Given the description of an element on the screen output the (x, y) to click on. 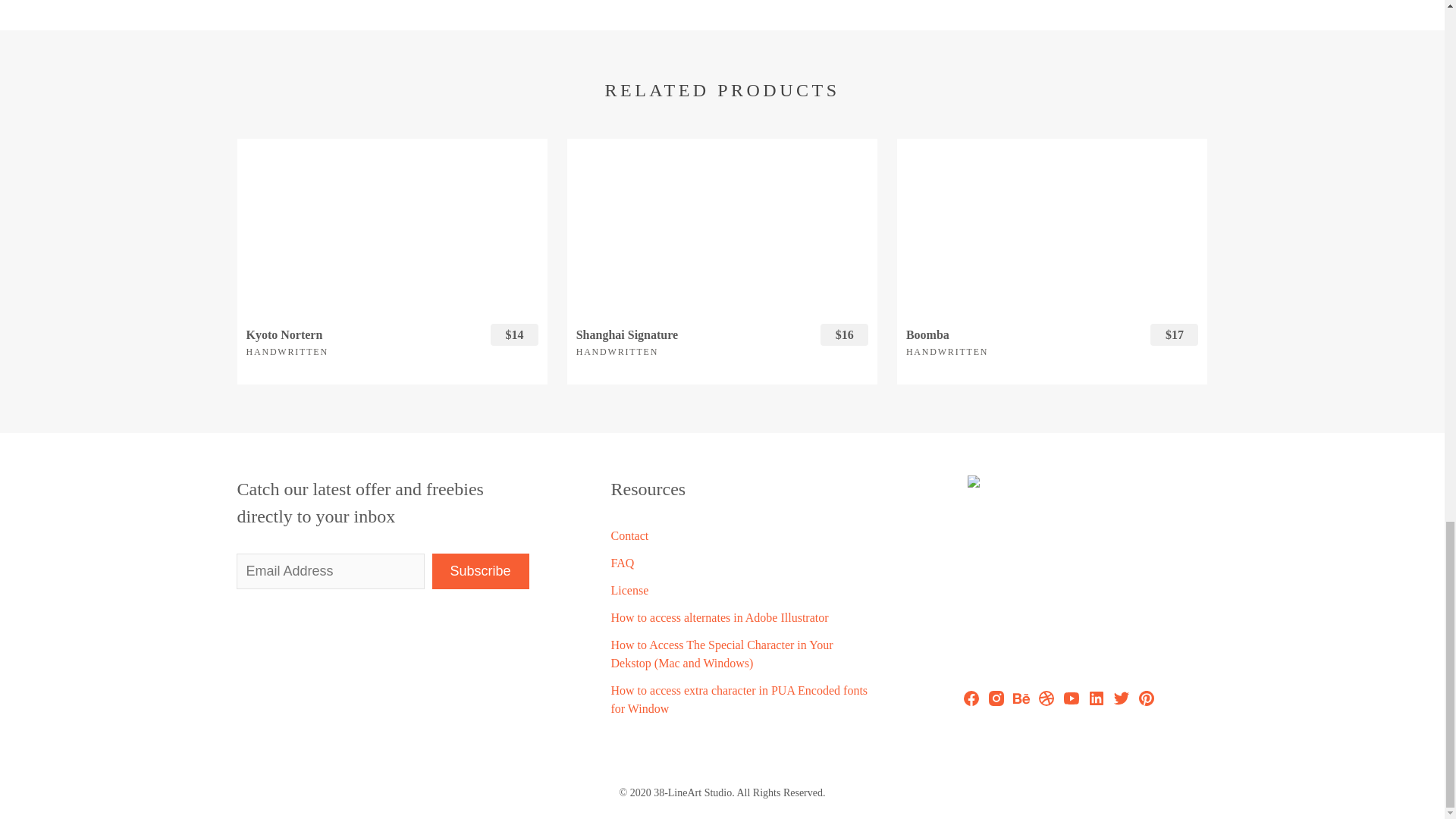
Shanghai Signature (722, 225)
Kyoto Nortern (391, 225)
Kyoto Nortern (361, 334)
View all products in Handwritten category (286, 351)
Shanghai Signature (692, 334)
View all products in Handwritten category (617, 351)
